Given the description of an element on the screen output the (x, y) to click on. 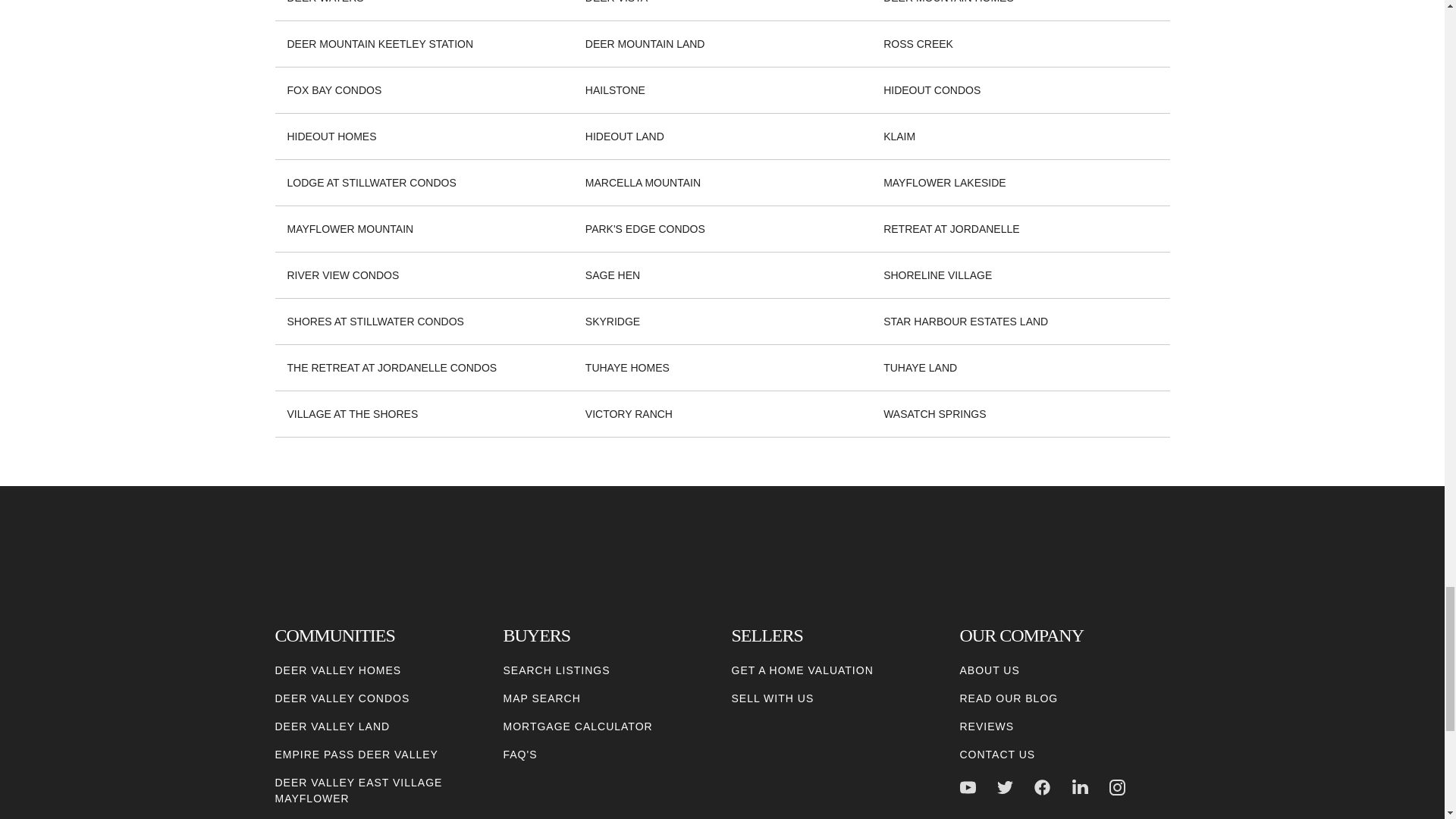
YOUTUBE (967, 787)
TWITTER (1005, 787)
FACEBOOK (1041, 787)
LINKEDIN (1079, 787)
